Given the description of an element on the screen output the (x, y) to click on. 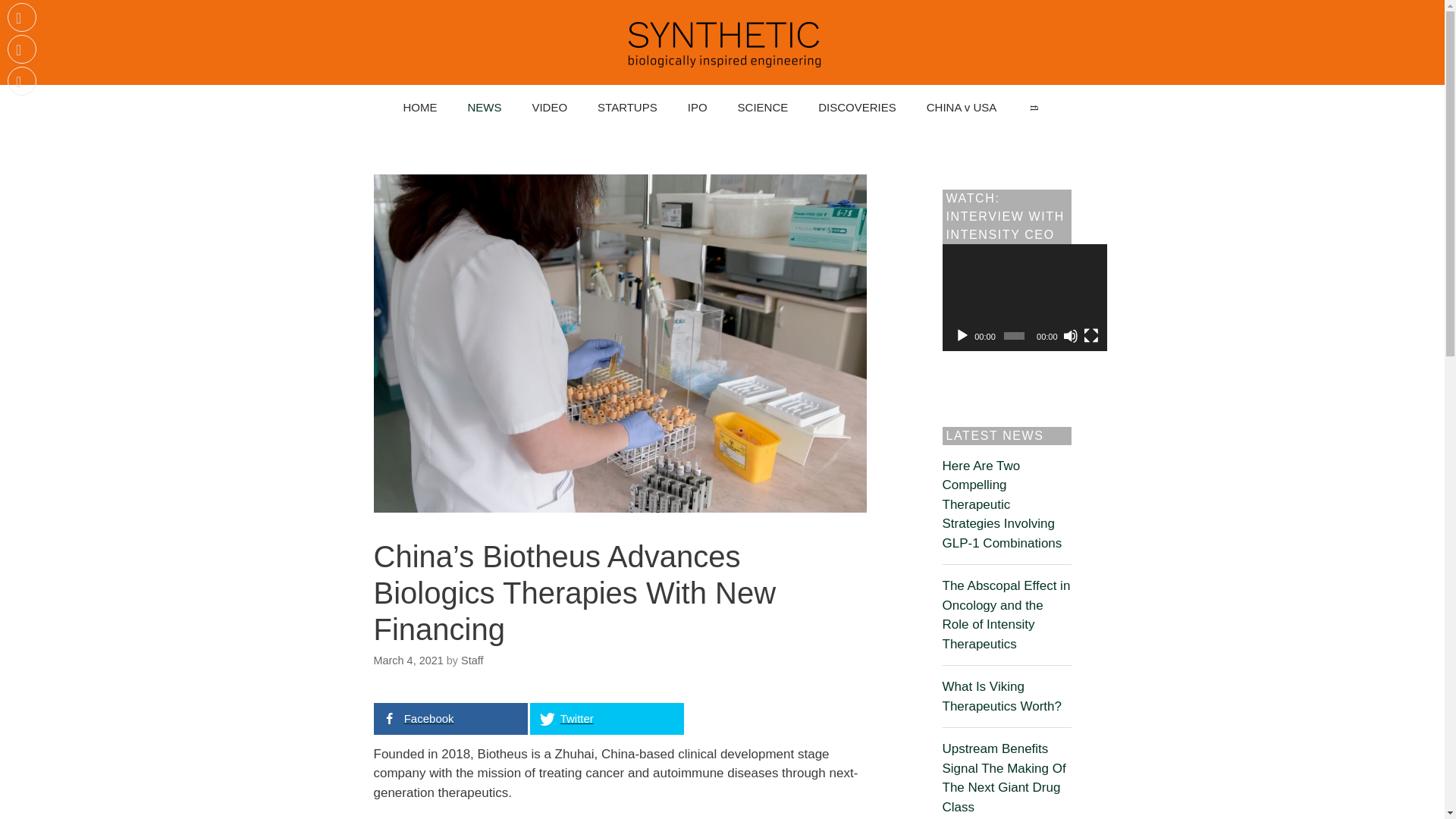
DISCOVERIES (857, 107)
IPO (697, 107)
STARTUPS (627, 107)
Play (961, 335)
View all posts by Staff (472, 660)
SCIENCE (762, 107)
HOME (419, 107)
Synthetic (722, 42)
Search (1034, 107)
Twitter (605, 718)
NEWS (483, 107)
Search (1034, 107)
Mute (1070, 335)
Staff (472, 660)
Facebook (449, 718)
